Given the description of an element on the screen output the (x, y) to click on. 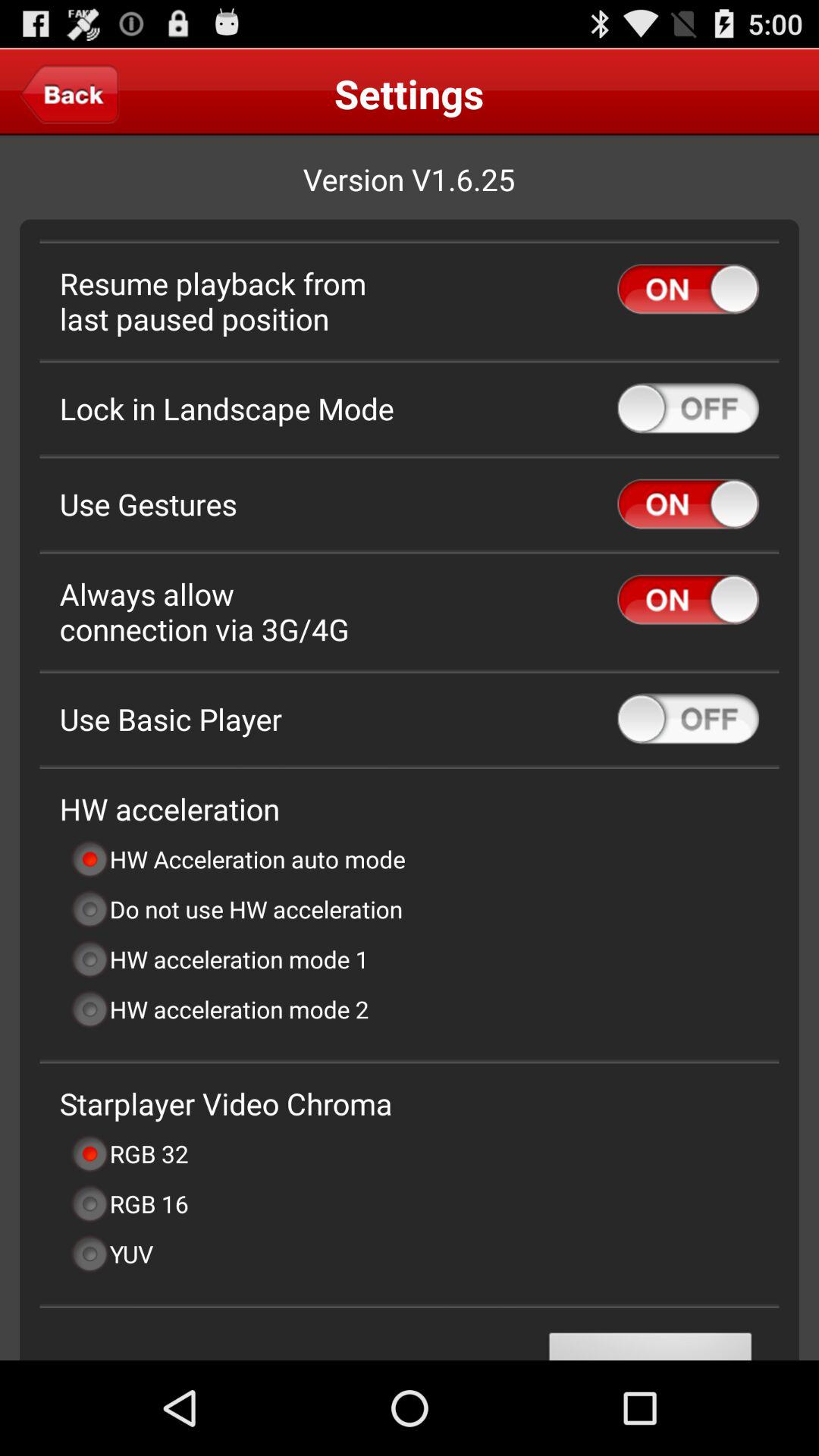
flip to the rgb 16 (128, 1203)
